Given the description of an element on the screen output the (x, y) to click on. 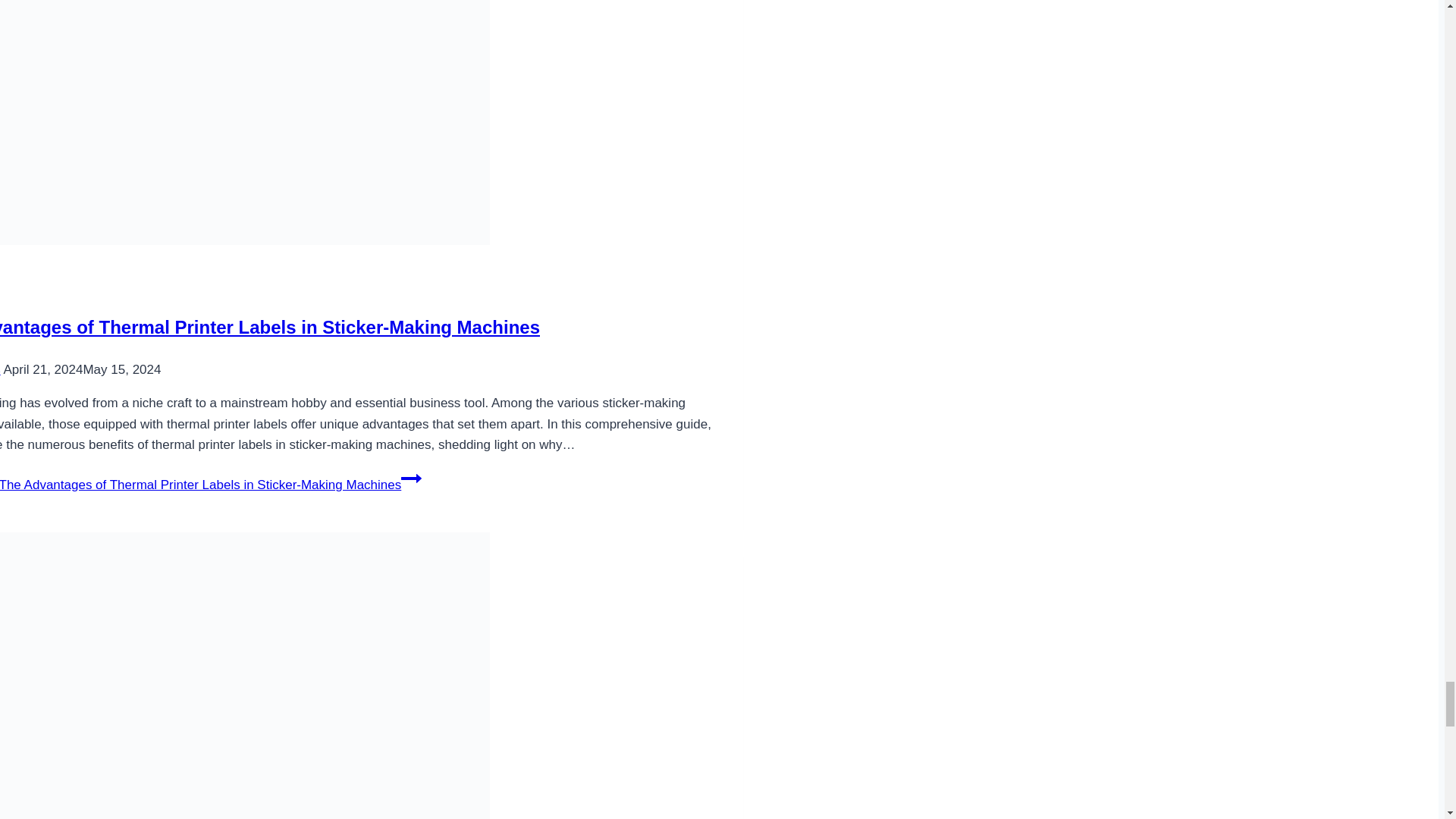
Continue (411, 477)
